Given the description of an element on the screen output the (x, y) to click on. 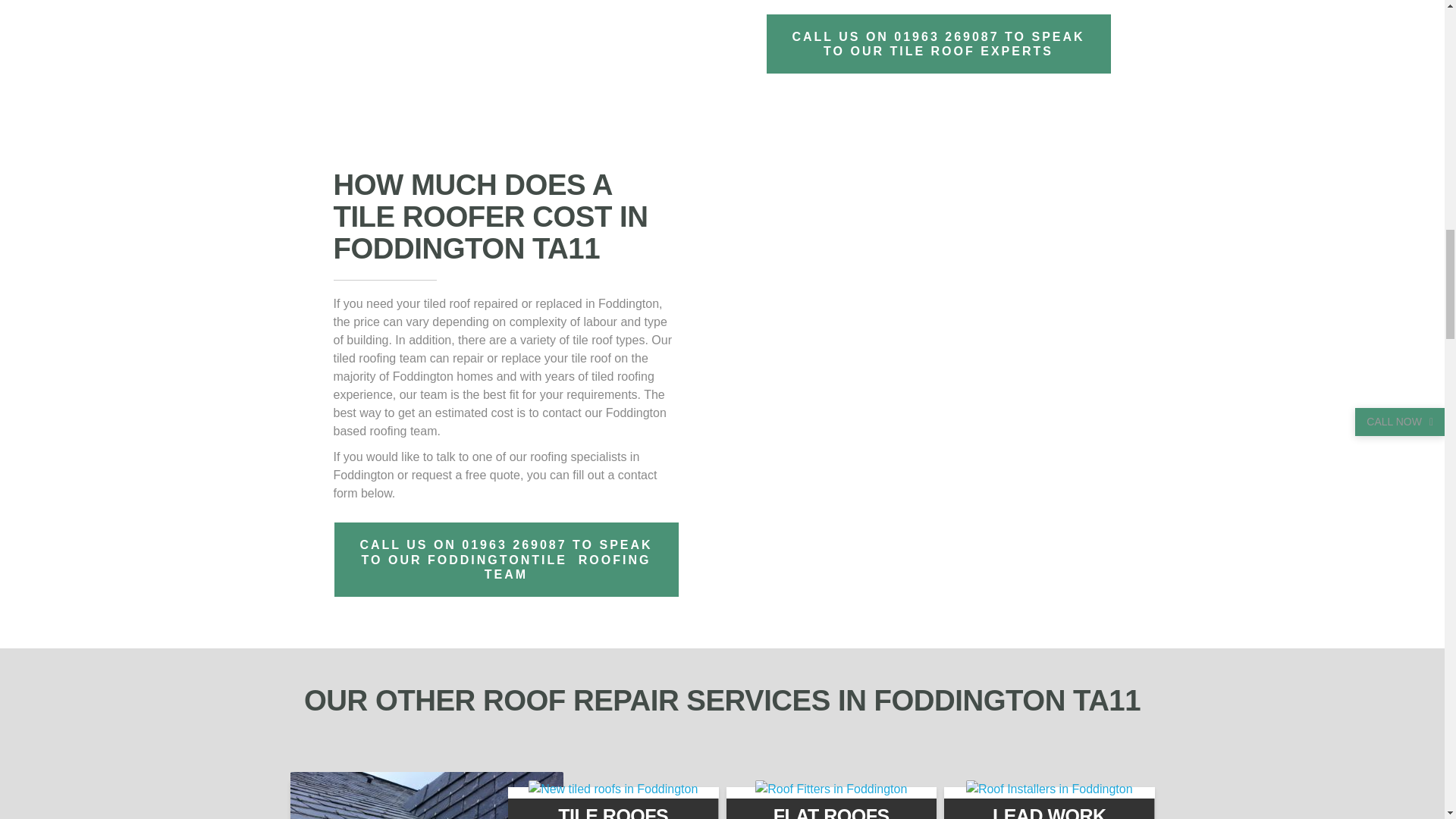
Flat Roofs (831, 789)
Lead Work (1049, 789)
Slate Roofs (425, 795)
CALL US ON 01963 269087 TO SPEAK TO OUR TILE ROOF EXPERTS (981, 43)
Tile Roofs (612, 789)
